Given the description of an element on the screen output the (x, y) to click on. 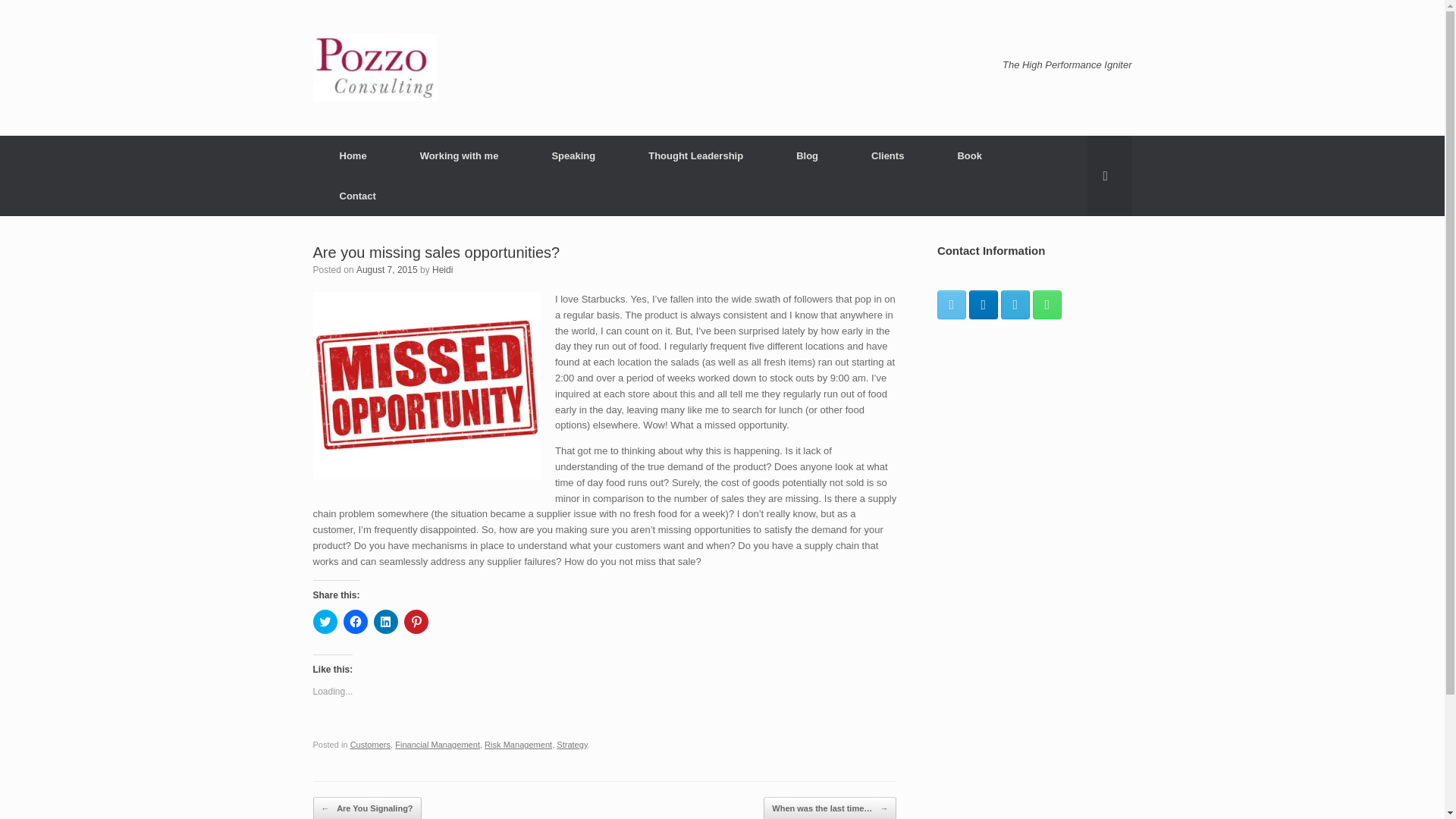
Speaking (572, 155)
Strategy (571, 744)
Working with me (459, 155)
Pozzo Consulting Phone (1046, 303)
Risk Management (517, 744)
Pozzo Consulting (374, 67)
Click to share on Twitter (324, 621)
Pozzo Consulting LinkedIn (983, 303)
Pozzo Consulting Email (1015, 303)
Clients (887, 155)
